Given the description of an element on the screen output the (x, y) to click on. 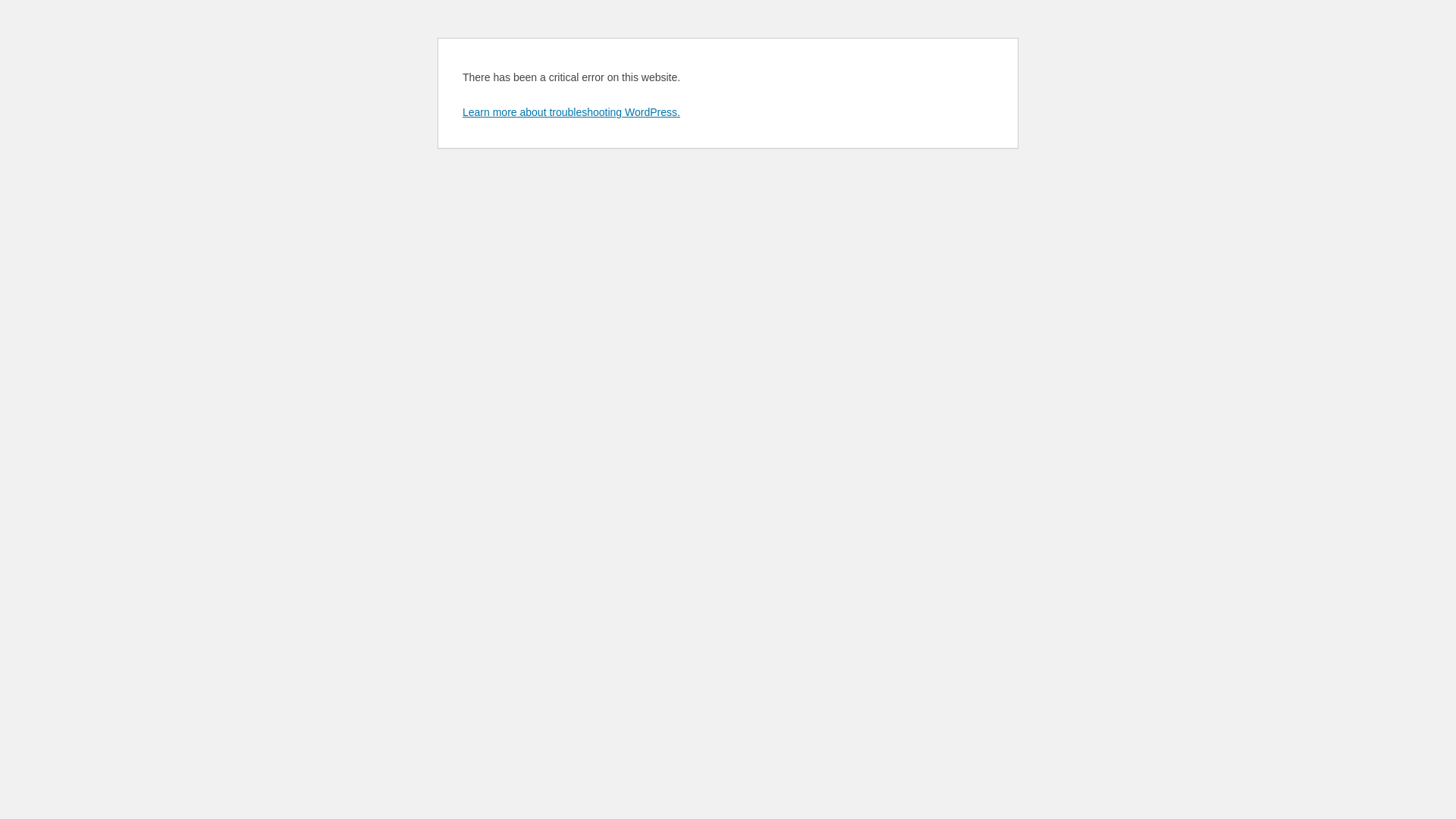
Learn more about troubleshooting WordPress. Element type: text (571, 112)
